Given the description of an element on the screen output the (x, y) to click on. 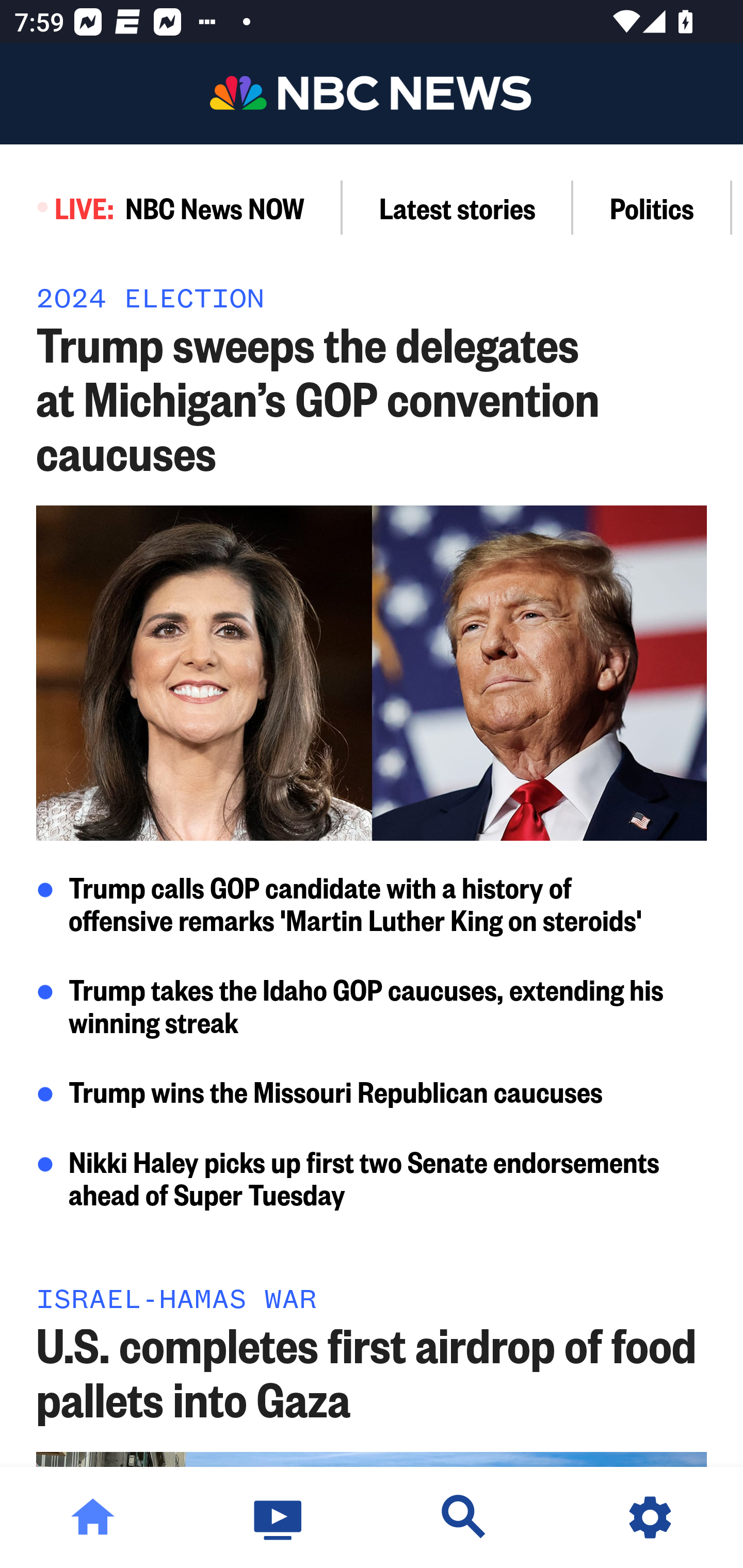
LIVE:  NBC News NOW (171, 207)
Latest stories Section,Latest stories (457, 207)
Politics Section,Politics (652, 207)
Watch (278, 1517)
Discover (464, 1517)
Settings (650, 1517)
